Given the description of an element on the screen output the (x, y) to click on. 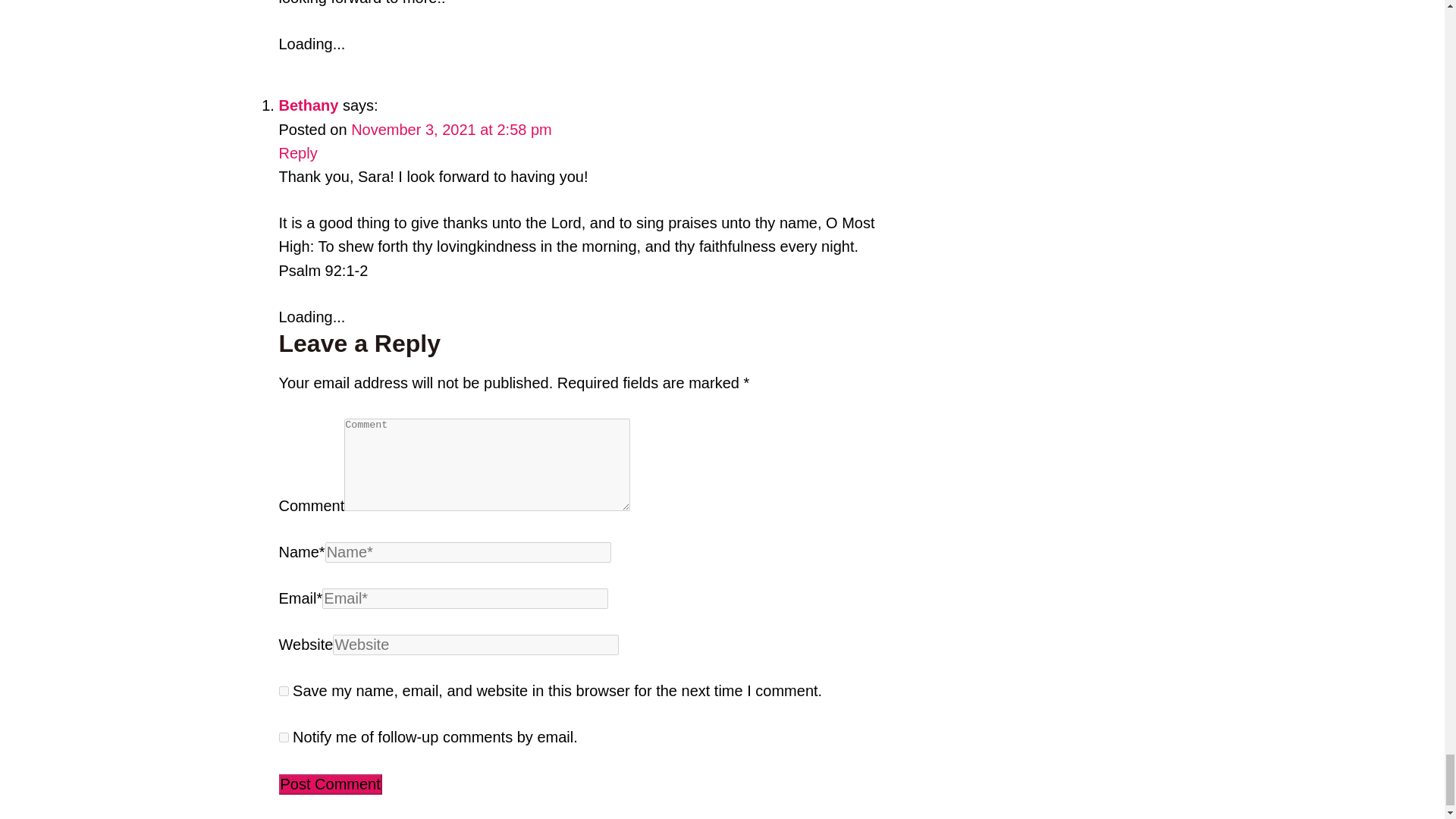
yes (283, 691)
subscribe (283, 737)
Post Comment (330, 783)
